Given the description of an element on the screen output the (x, y) to click on. 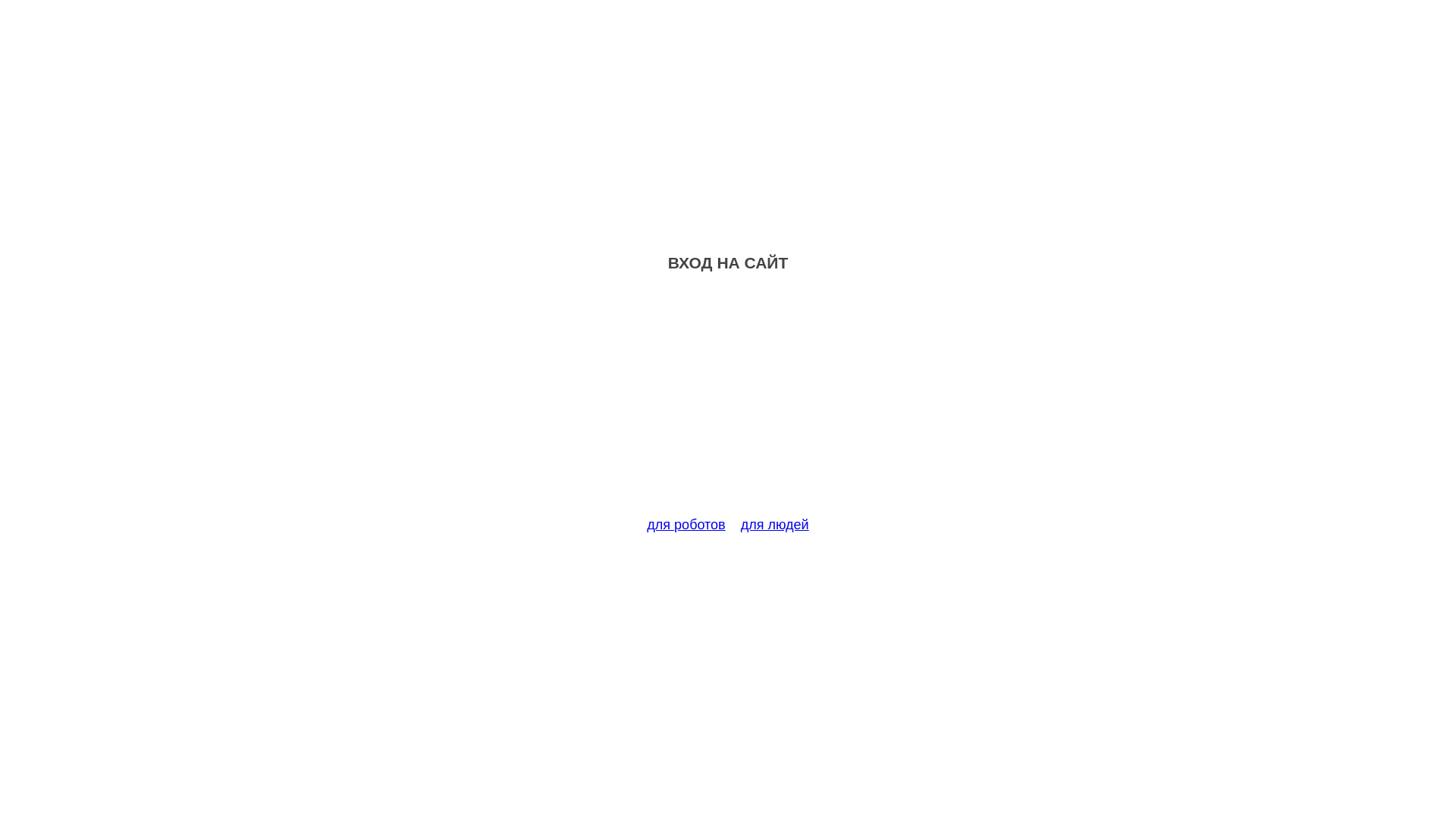
Advertisement Element type: hover (727, 403)
